Given the description of an element on the screen output the (x, y) to click on. 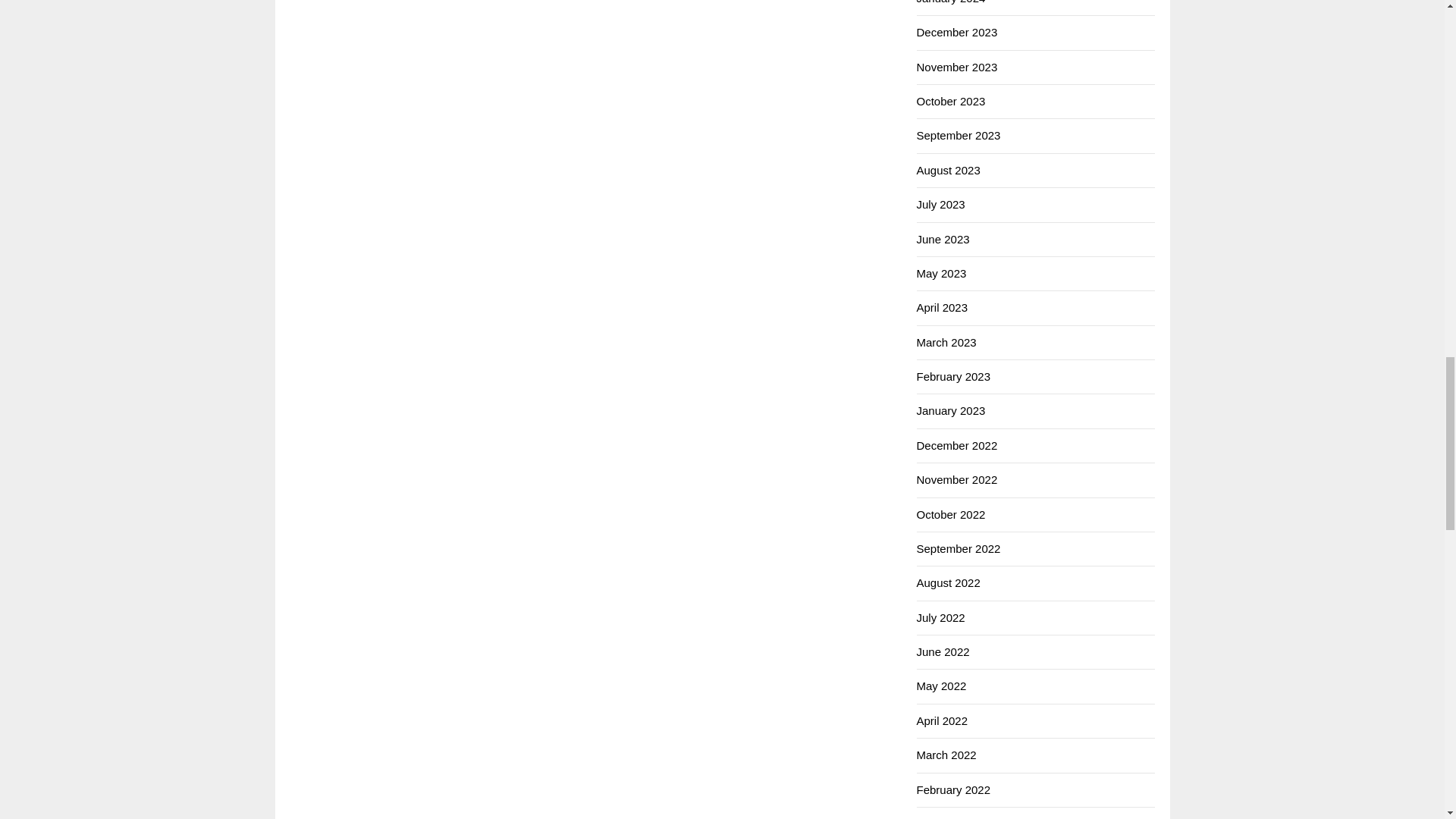
July 2023 (939, 204)
September 2023 (957, 134)
October 2023 (950, 101)
December 2023 (956, 31)
November 2023 (956, 66)
January 2024 (950, 2)
June 2023 (942, 238)
August 2023 (947, 169)
